Given the description of an element on the screen output the (x, y) to click on. 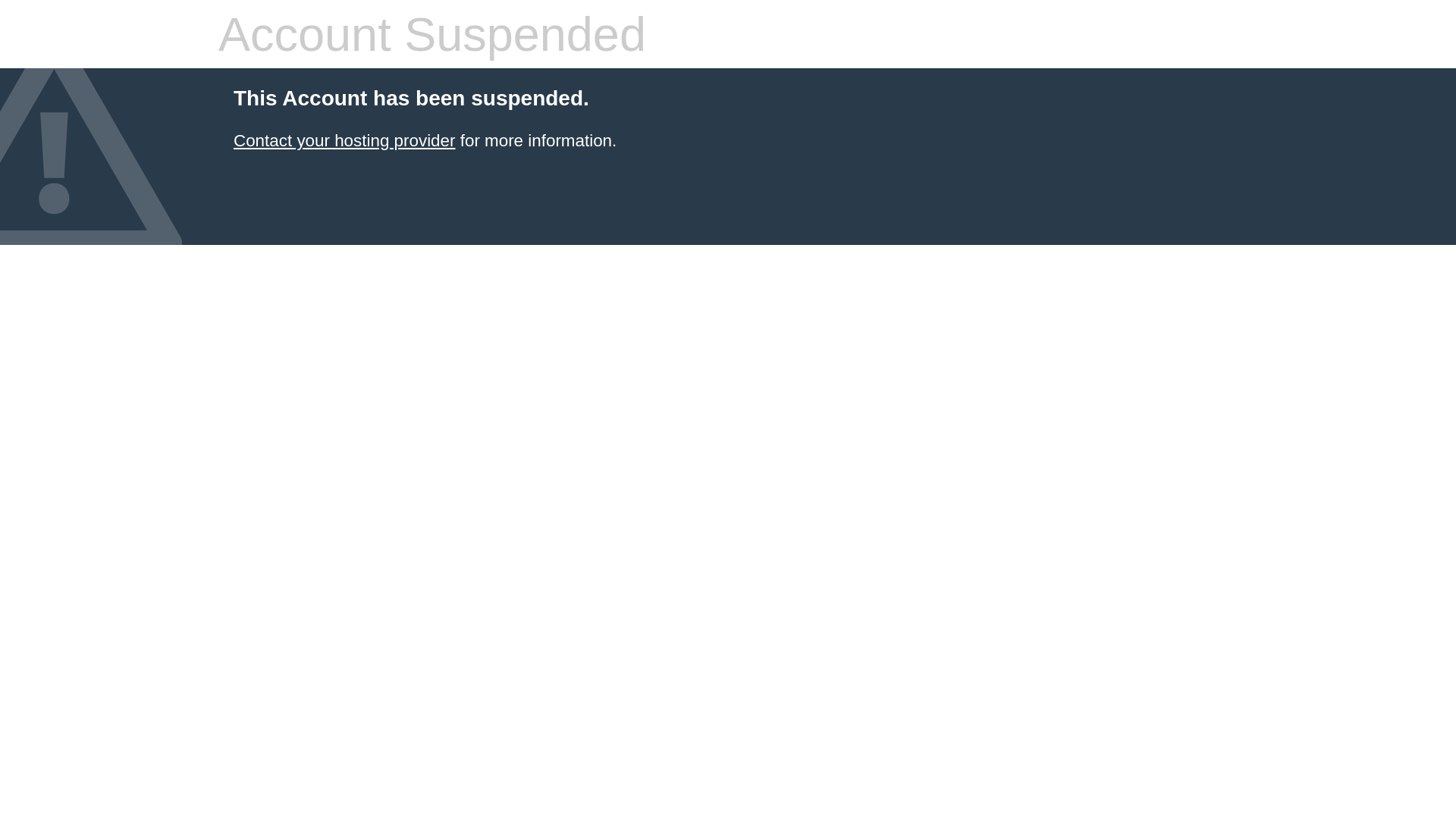
Contact your hosting provider Element type: text (344, 140)
